Given the description of an element on the screen output the (x, y) to click on. 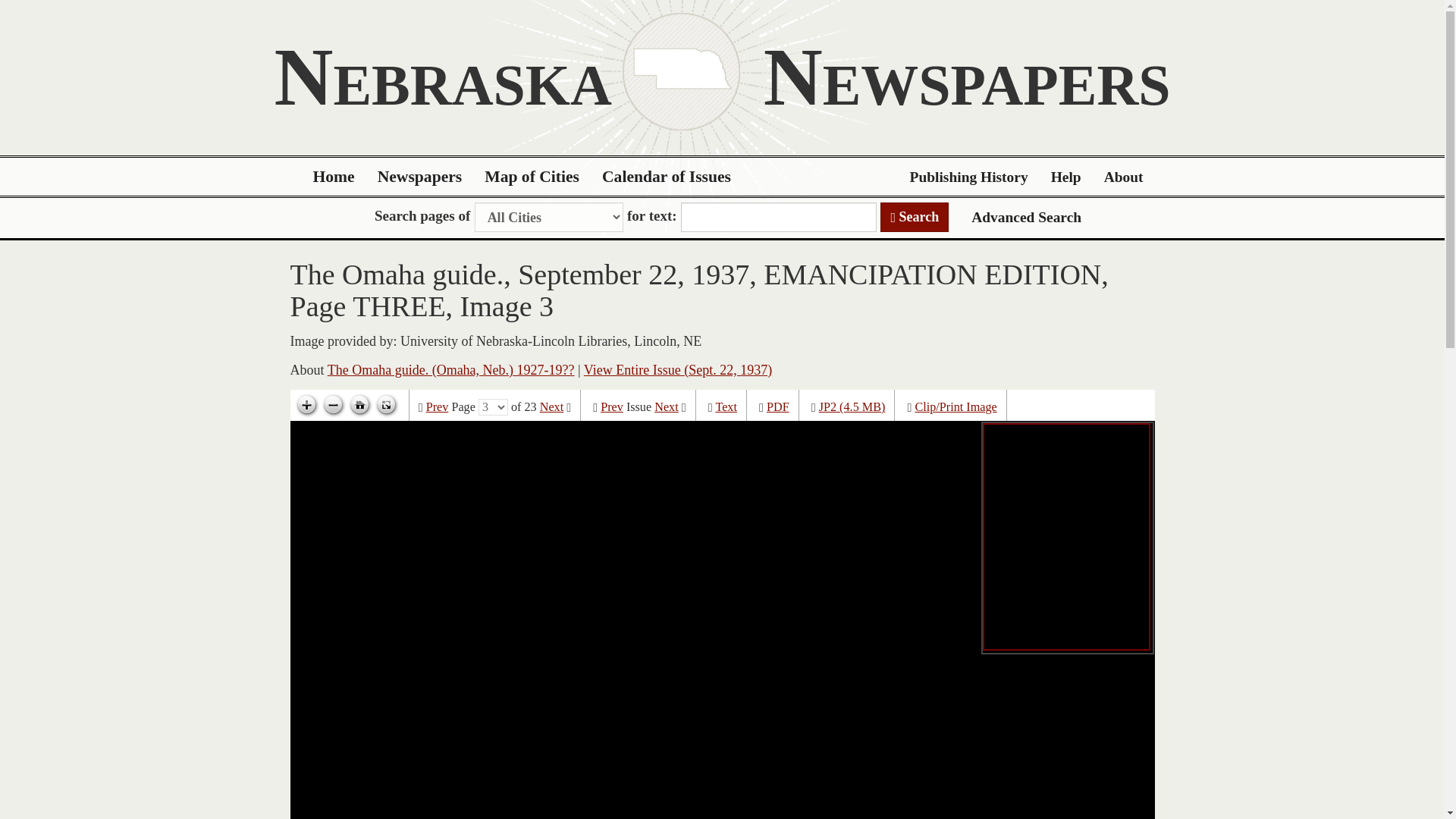
Calendar of Issues (666, 176)
Advanced Search (1026, 216)
Next (665, 407)
Prev (611, 407)
About (1123, 176)
Zoom out (333, 405)
PDF (778, 407)
Prev (437, 407)
Map of Cities (532, 176)
Toggle full page (385, 405)
Publishing History (968, 176)
Newspapers (420, 176)
Next (551, 407)
Zoom in (307, 405)
Search (914, 217)
